Given the description of an element on the screen output the (x, y) to click on. 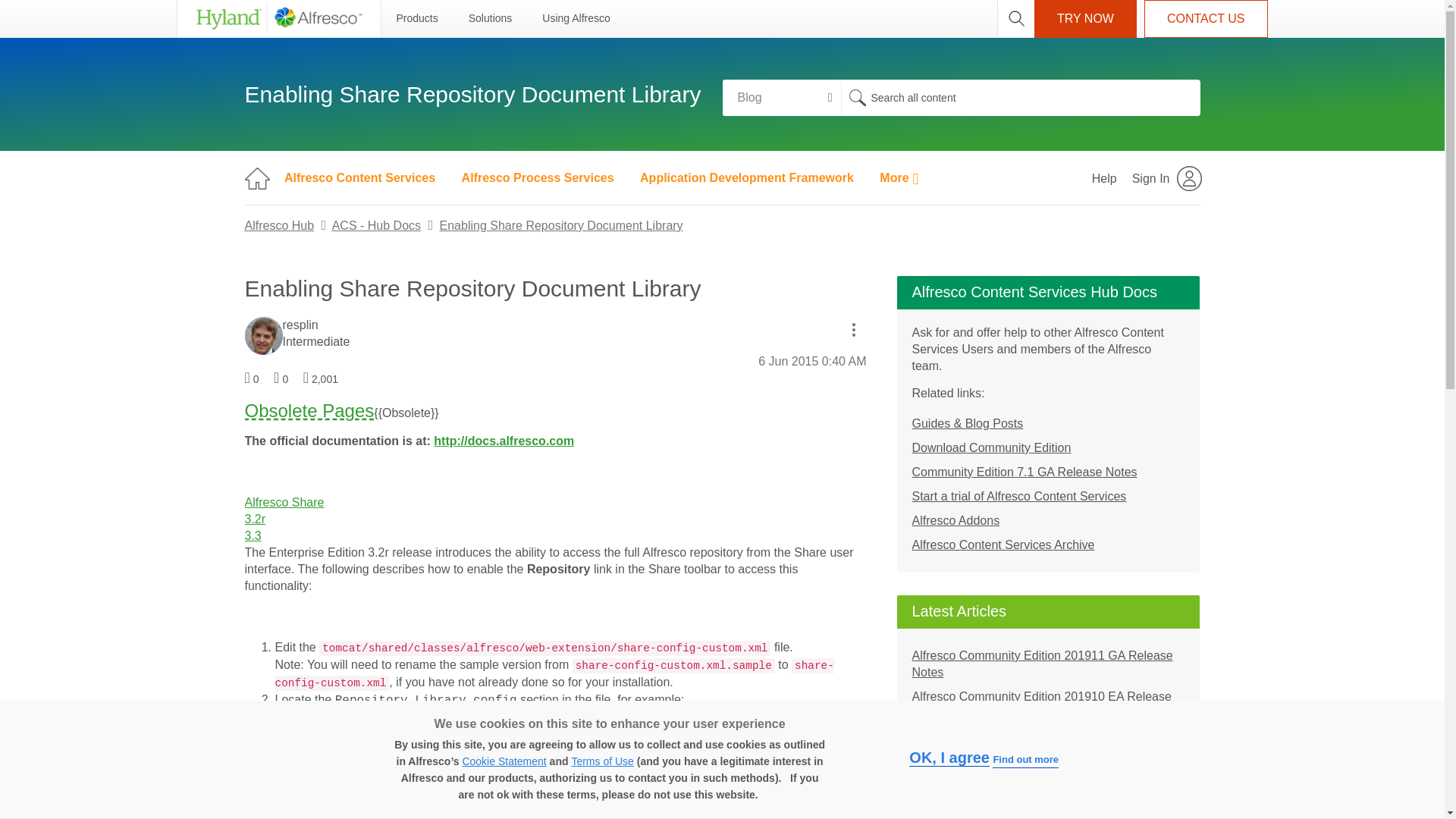
Alfresco Content Services (359, 177)
TRY NOW (1085, 18)
Help (1104, 177)
Alfresco (278, 18)
Search (856, 97)
CONTACT US (1206, 18)
Search (856, 97)
Solutions (489, 18)
resplin (263, 335)
Search (1019, 97)
